Given the description of an element on the screen output the (x, y) to click on. 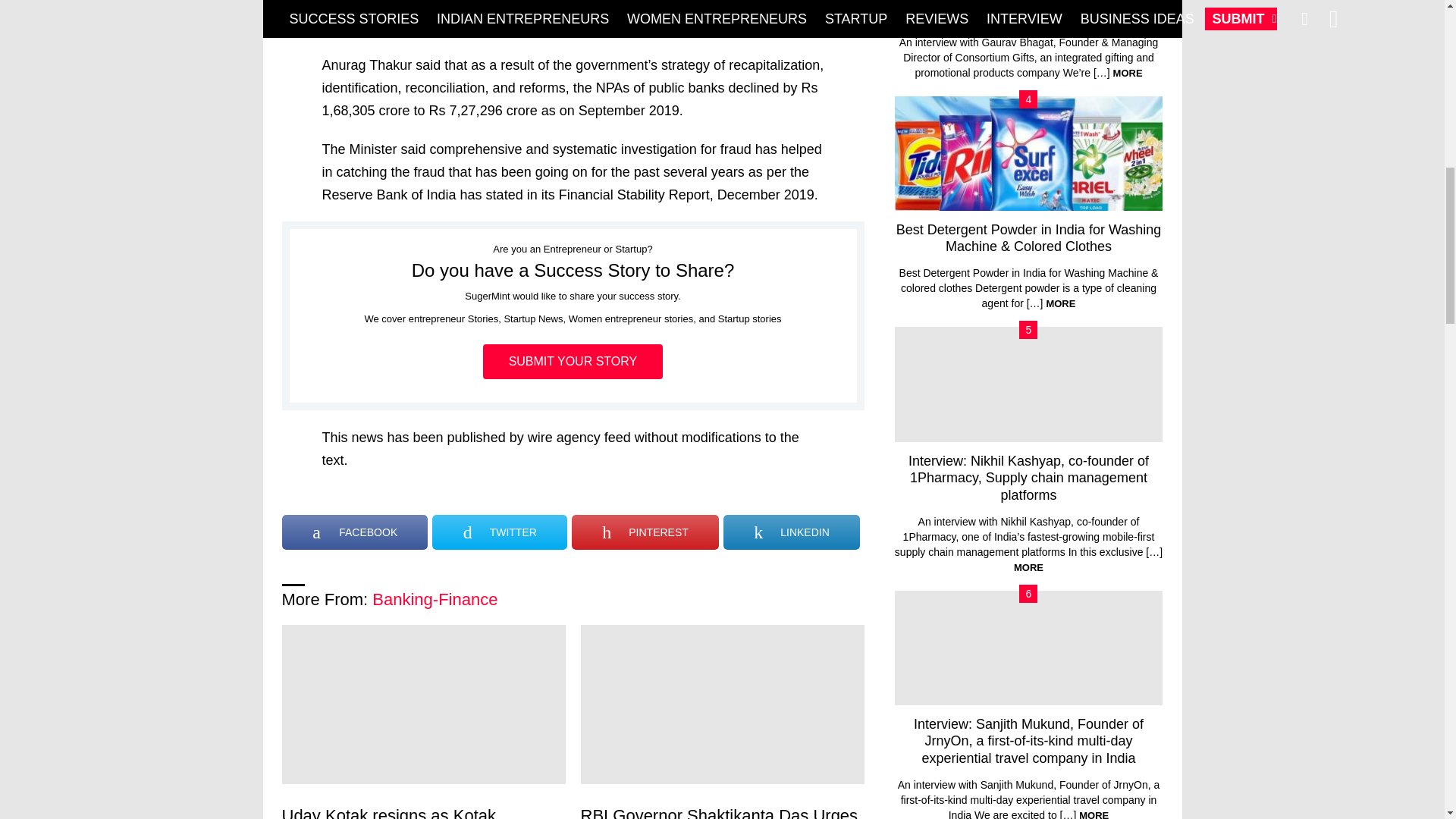
TWITTER (499, 532)
Banking-Finance (434, 599)
SUBMIT YOUR STORY (573, 361)
FACEBOOK (355, 532)
PINTEREST (645, 532)
LINKEDIN (791, 532)
